Given the description of an element on the screen output the (x, y) to click on. 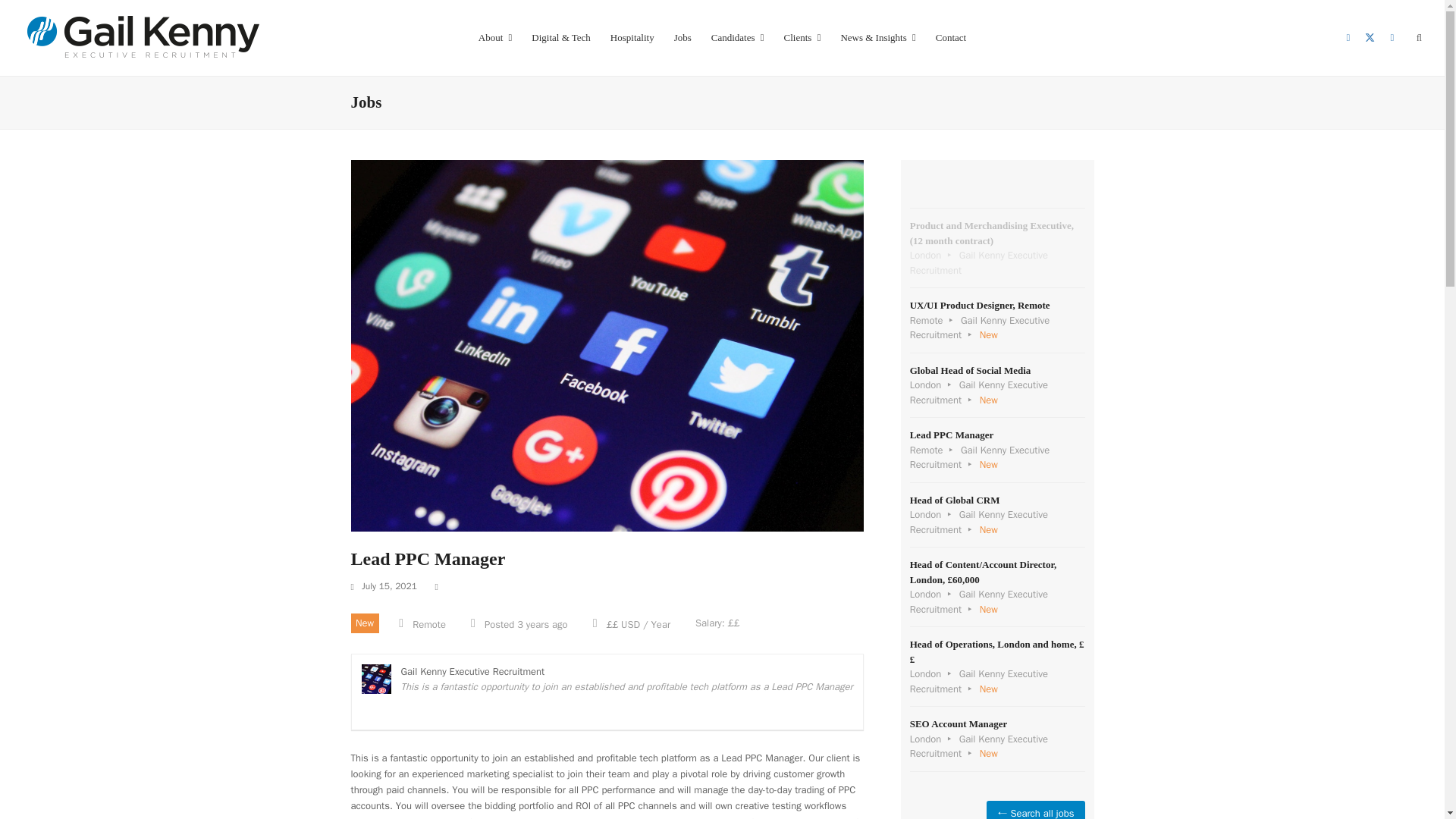
About (495, 37)
Instagram (1391, 37)
Hospitality (631, 37)
Instagram (1391, 37)
Candidates (737, 37)
Twitter (1369, 37)
LinkedIn (1347, 37)
Jobs (682, 37)
Clients (802, 37)
Twitter (1369, 37)
Contact (950, 37)
LinkedIn (1347, 37)
Remote (428, 624)
